Given the description of an element on the screen output the (x, y) to click on. 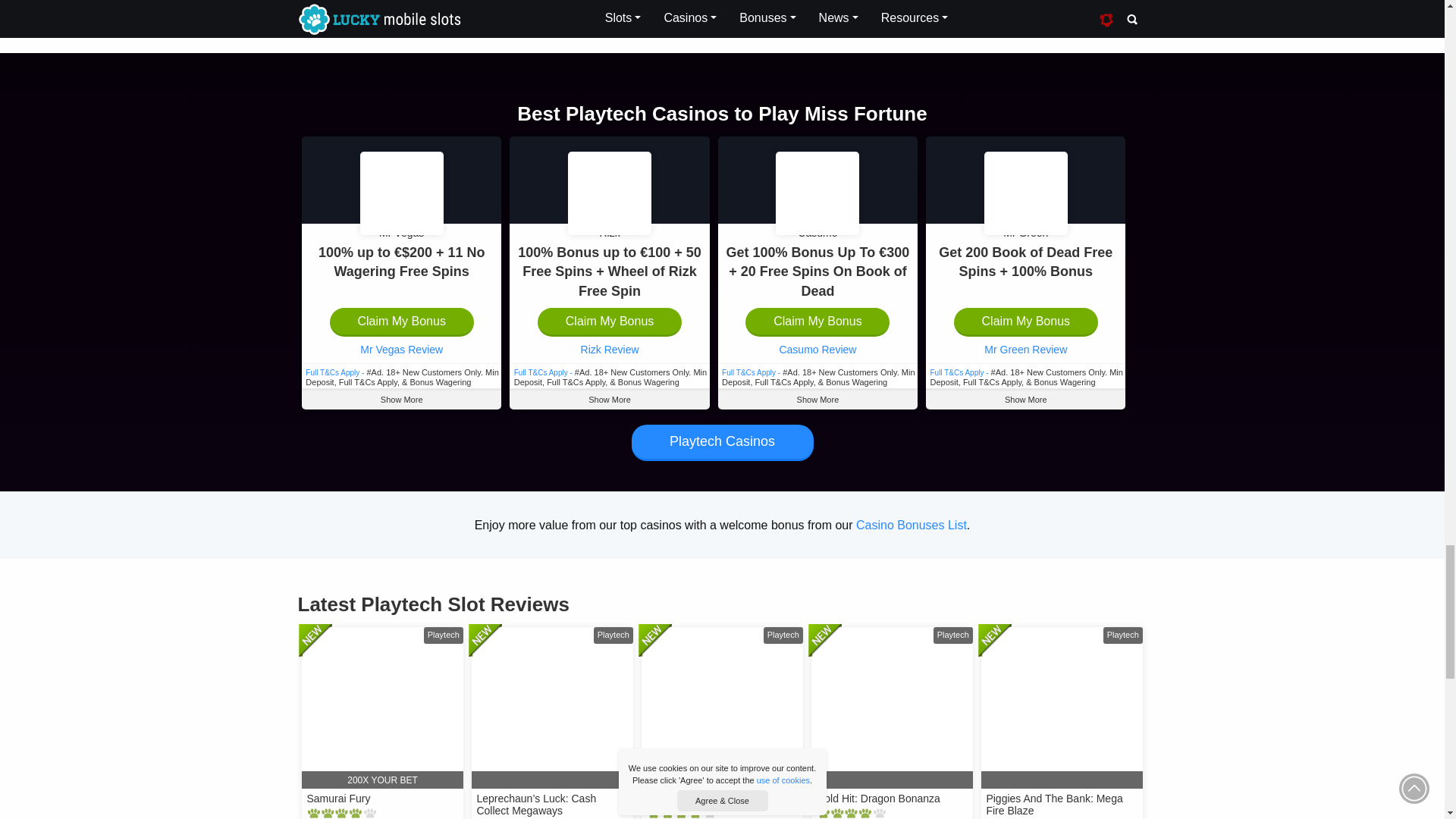
LMS Slot Videos (606, 12)
Tweet it Feline Friend! (531, 12)
Share The Wealth (566, 12)
